Given the description of an element on the screen output the (x, y) to click on. 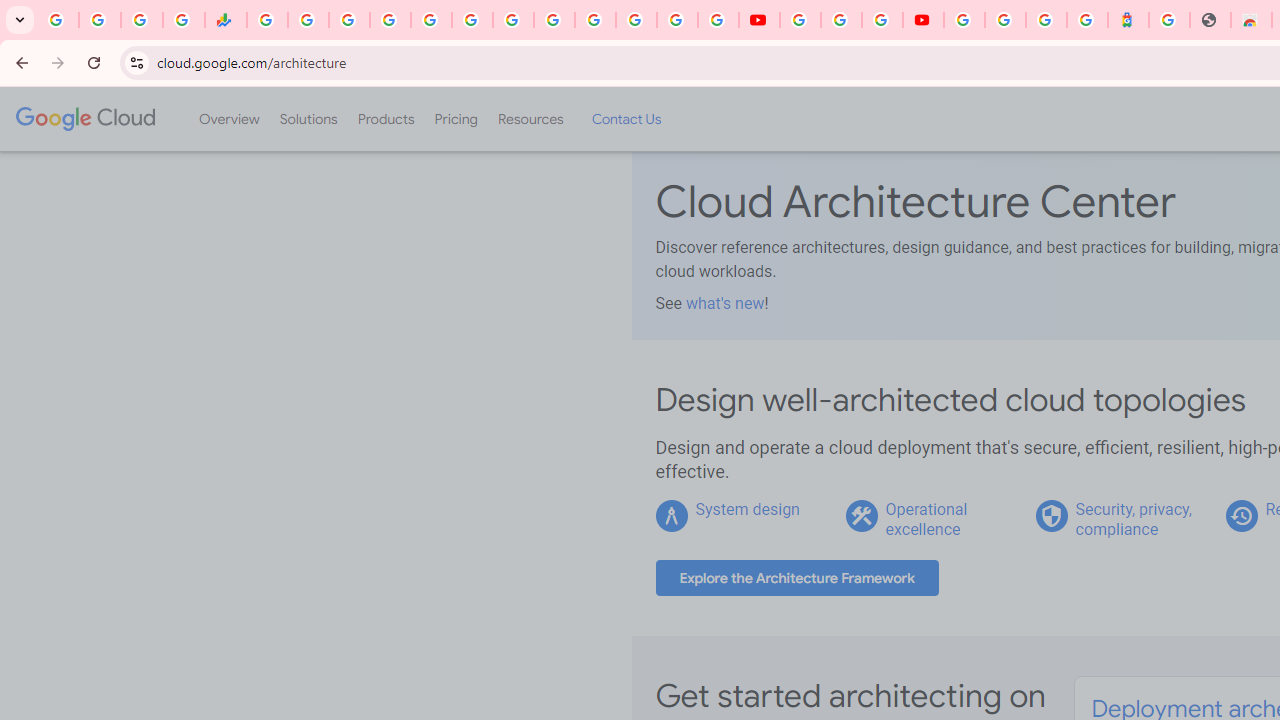
YouTube (799, 20)
YouTube (758, 20)
Pricing (455, 119)
